Given the description of an element on the screen output the (x, y) to click on. 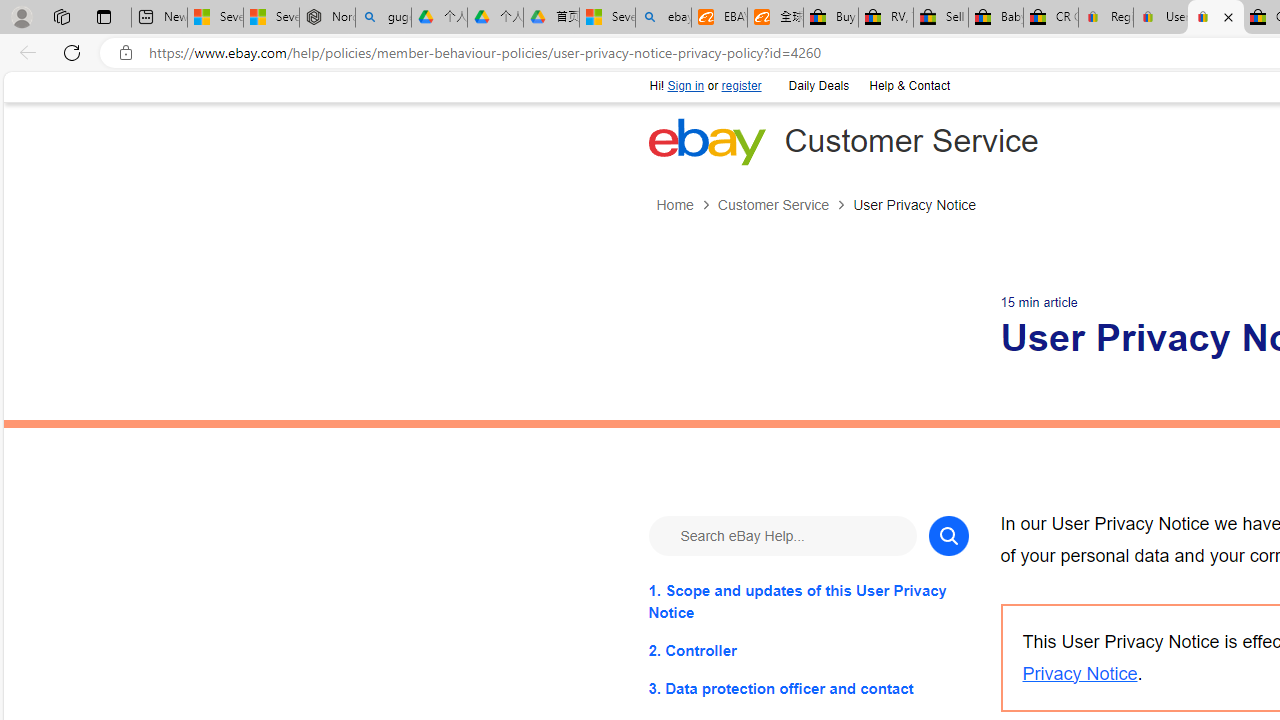
eBay Home (706, 141)
Help & Contact (907, 84)
2. Controller (807, 650)
Sign in (685, 85)
RV, Trailer & Camper Steps & Ladders for sale | eBay (885, 17)
2. Controller (807, 650)
1. Scope and updates of this User Privacy Notice (807, 601)
Register: Create a personal eBay account (1105, 17)
